Given the description of an element on the screen output the (x, y) to click on. 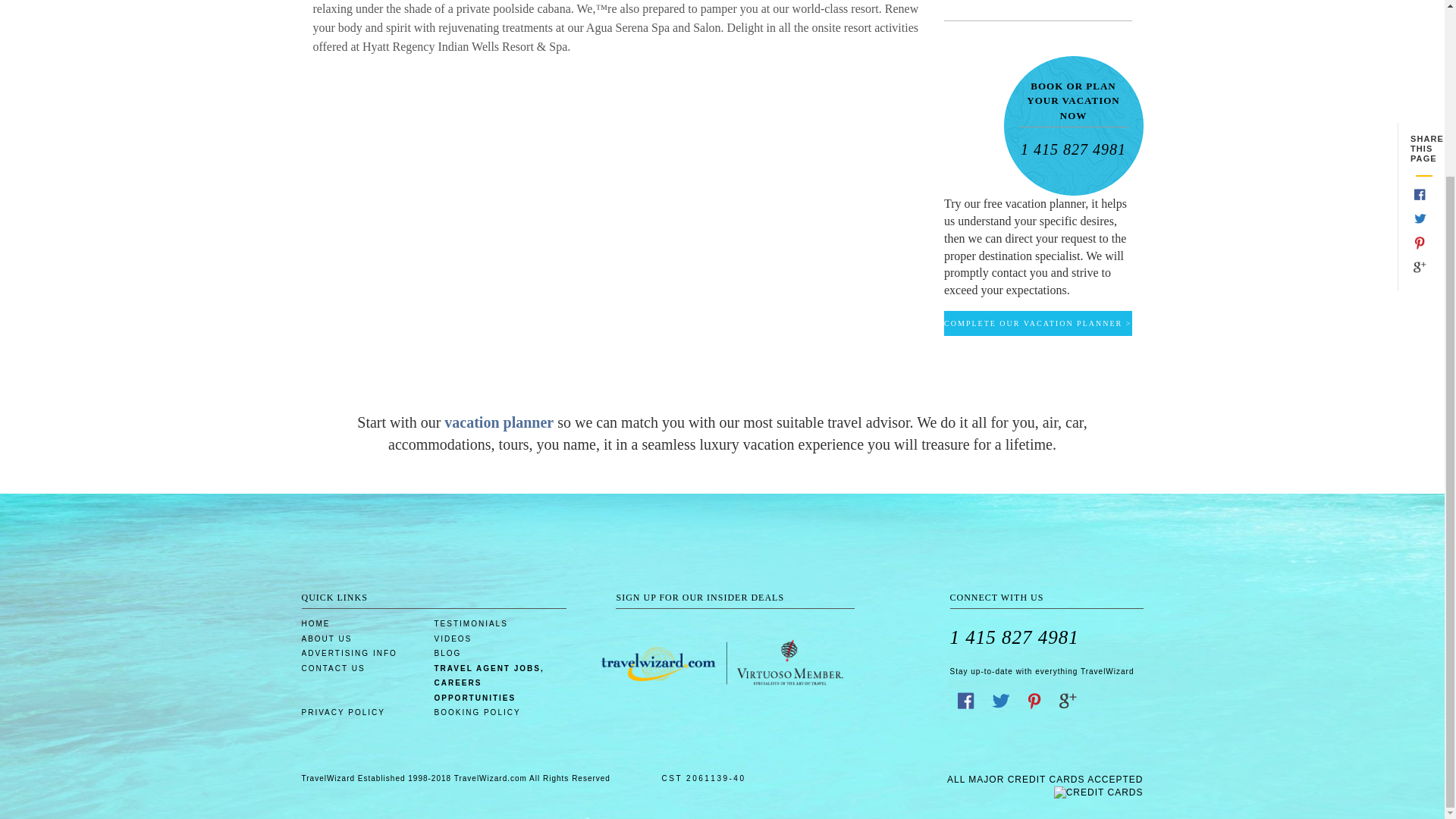
BLOG (447, 653)
vacation planner (500, 422)
BOOKING POLICY (476, 712)
ADVERTISING INFO (349, 653)
CONTACT US (333, 668)
Share on Twitter (1419, 6)
PRIVACY POLICY (343, 712)
VIDEOS (452, 639)
BOOK OR PLAN YOUR VACATION NOW (1073, 104)
TESTIMONIALS (469, 623)
ABOUT US (326, 639)
Share on Twitter (1002, 705)
TRAVEL AGENT JOBS, CAREERS OPPORTUNITIES (499, 682)
HOME (315, 623)
